Given the description of an element on the screen output the (x, y) to click on. 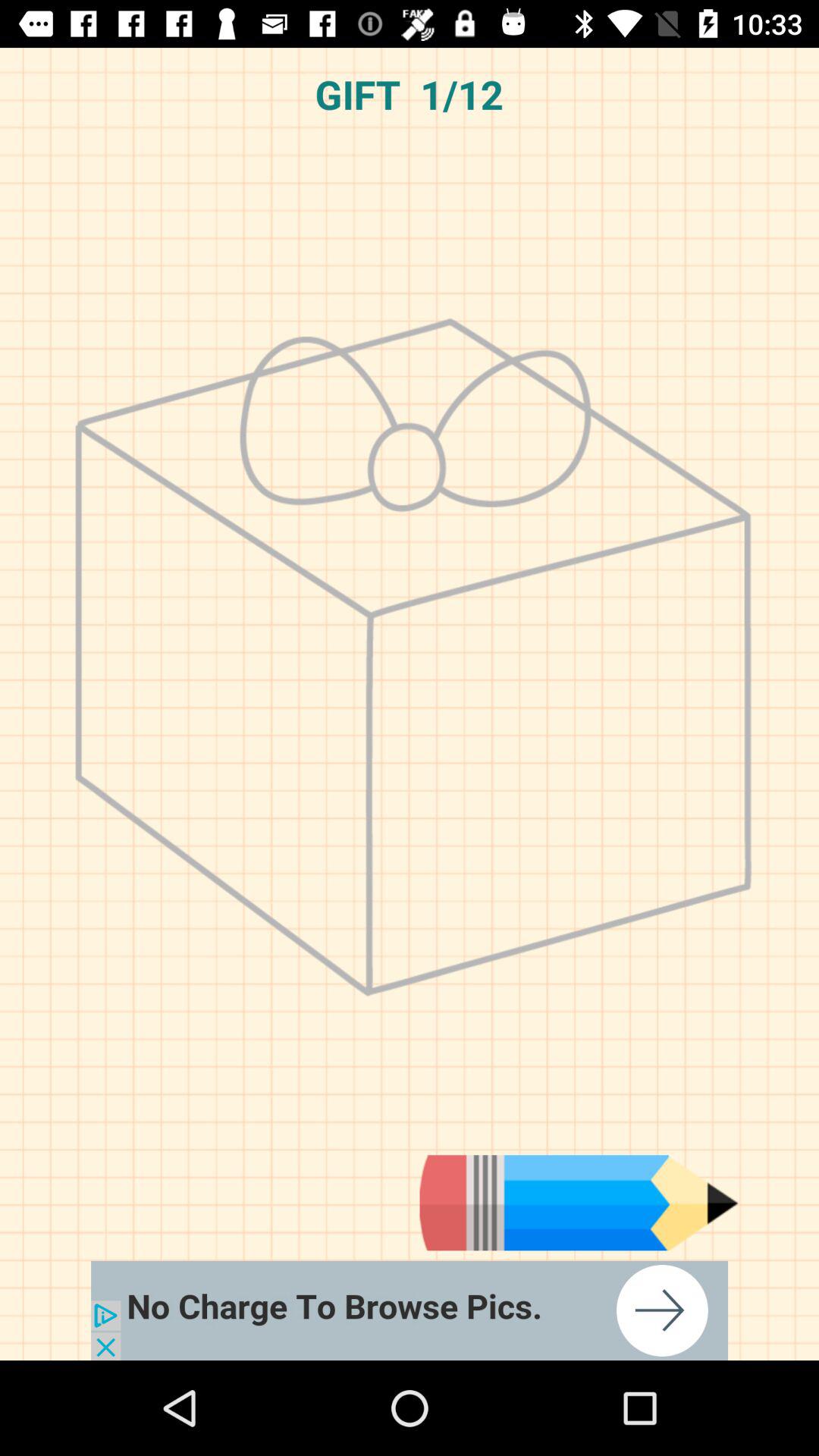
click to draw (578, 1202)
